Given the description of an element on the screen output the (x, y) to click on. 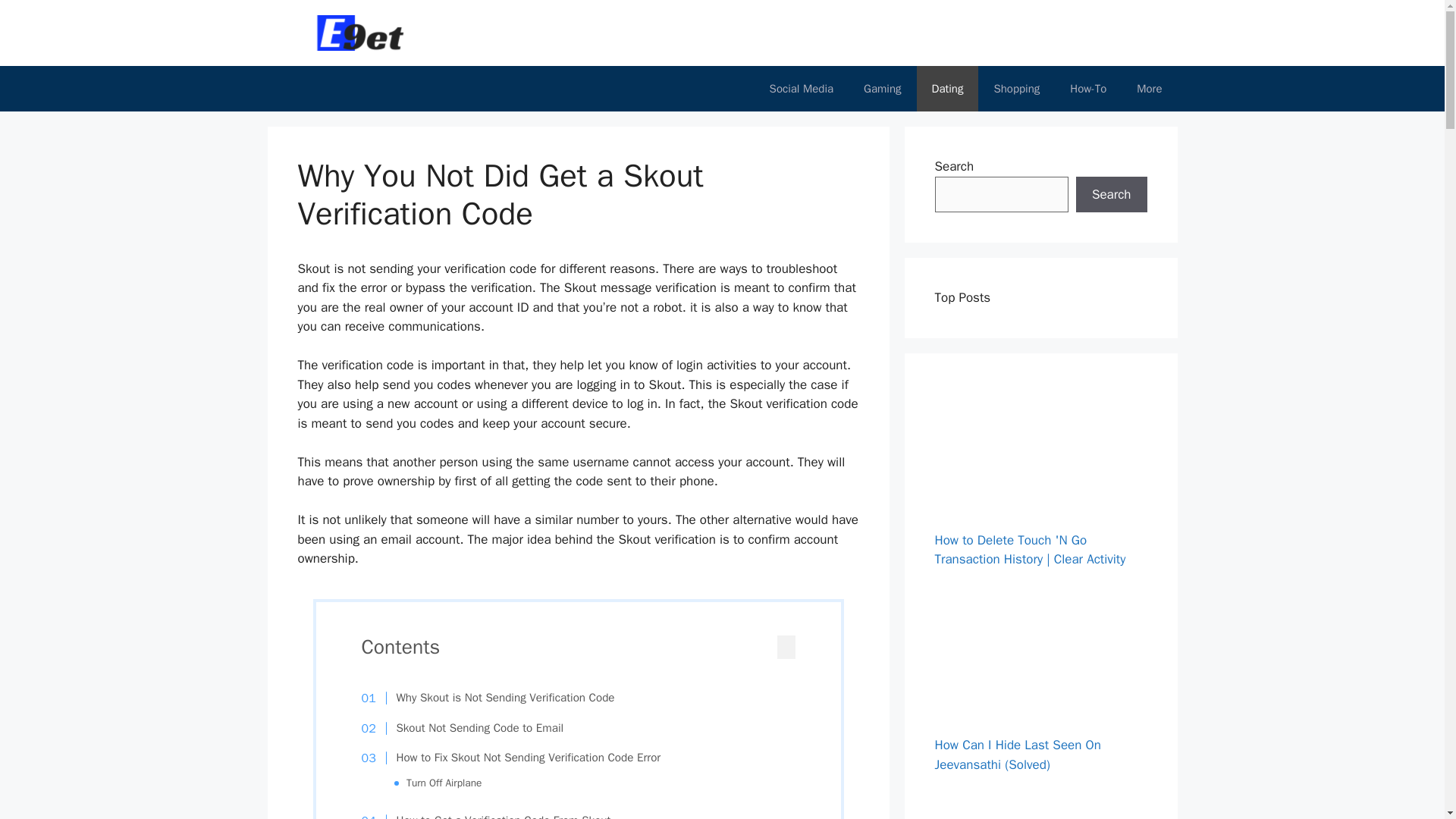
Social Media (801, 88)
Dating (947, 88)
Shopping (1016, 88)
Skout Not Sending Code to Email (470, 728)
Gaming (881, 88)
How-To (1087, 88)
Why Skout is Not Sending Verification Code (495, 698)
Search (1111, 194)
How to Fix Skout Not Sending Verification Code Error (519, 758)
More (1148, 88)
How to Get a Verification Code From Skout (493, 815)
Turn Off Airplane (443, 782)
